Given the description of an element on the screen output the (x, y) to click on. 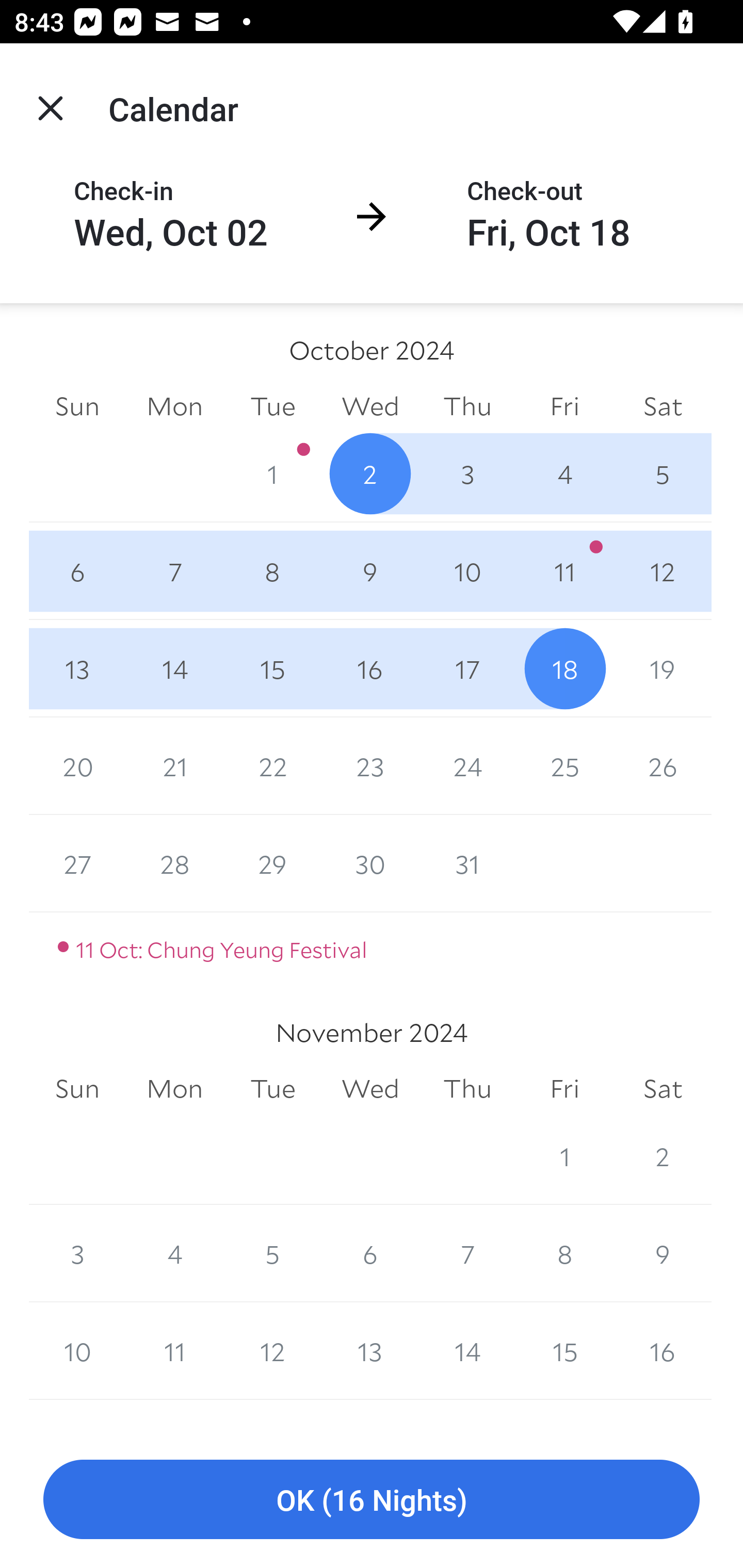
Sun (77, 405)
Mon (174, 405)
Tue (272, 405)
Wed (370, 405)
Thu (467, 405)
Fri (564, 405)
Sat (662, 405)
1 1 October 2024 (272, 473)
2 2 October 2024 (370, 473)
3 3 October 2024 (467, 473)
4 4 October 2024 (564, 473)
5 5 October 2024 (662, 473)
6 6 October 2024 (77, 570)
7 7 October 2024 (174, 570)
8 8 October 2024 (272, 570)
9 9 October 2024 (370, 570)
10 10 October 2024 (467, 570)
11 11 October 2024 (564, 570)
12 12 October 2024 (662, 570)
13 13 October 2024 (77, 668)
14 14 October 2024 (174, 668)
15 15 October 2024 (272, 668)
16 16 October 2024 (370, 668)
17 17 October 2024 (467, 668)
18 18 October 2024 (564, 668)
19 19 October 2024 (662, 668)
20 20 October 2024 (77, 766)
21 21 October 2024 (174, 766)
22 22 October 2024 (272, 766)
23 23 October 2024 (370, 766)
24 24 October 2024 (467, 766)
25 25 October 2024 (564, 766)
26 26 October 2024 (662, 766)
27 27 October 2024 (77, 863)
28 28 October 2024 (174, 863)
29 29 October 2024 (272, 863)
30 30 October 2024 (370, 863)
31 31 October 2024 (467, 863)
Sun (77, 1088)
Mon (174, 1088)
Tue (272, 1088)
Wed (370, 1088)
Thu (467, 1088)
Fri (564, 1088)
Sat (662, 1088)
1 1 November 2024 (564, 1155)
2 2 November 2024 (662, 1155)
3 3 November 2024 (77, 1253)
4 4 November 2024 (174, 1253)
5 5 November 2024 (272, 1253)
6 6 November 2024 (370, 1253)
7 7 November 2024 (467, 1253)
8 8 November 2024 (564, 1253)
9 9 November 2024 (662, 1253)
10 10 November 2024 (77, 1351)
11 11 November 2024 (174, 1351)
12 12 November 2024 (272, 1351)
13 13 November 2024 (370, 1351)
14 14 November 2024 (467, 1351)
15 15 November 2024 (564, 1351)
16 16 November 2024 (662, 1351)
OK (16 Nights) (371, 1499)
